Given the description of an element on the screen output the (x, y) to click on. 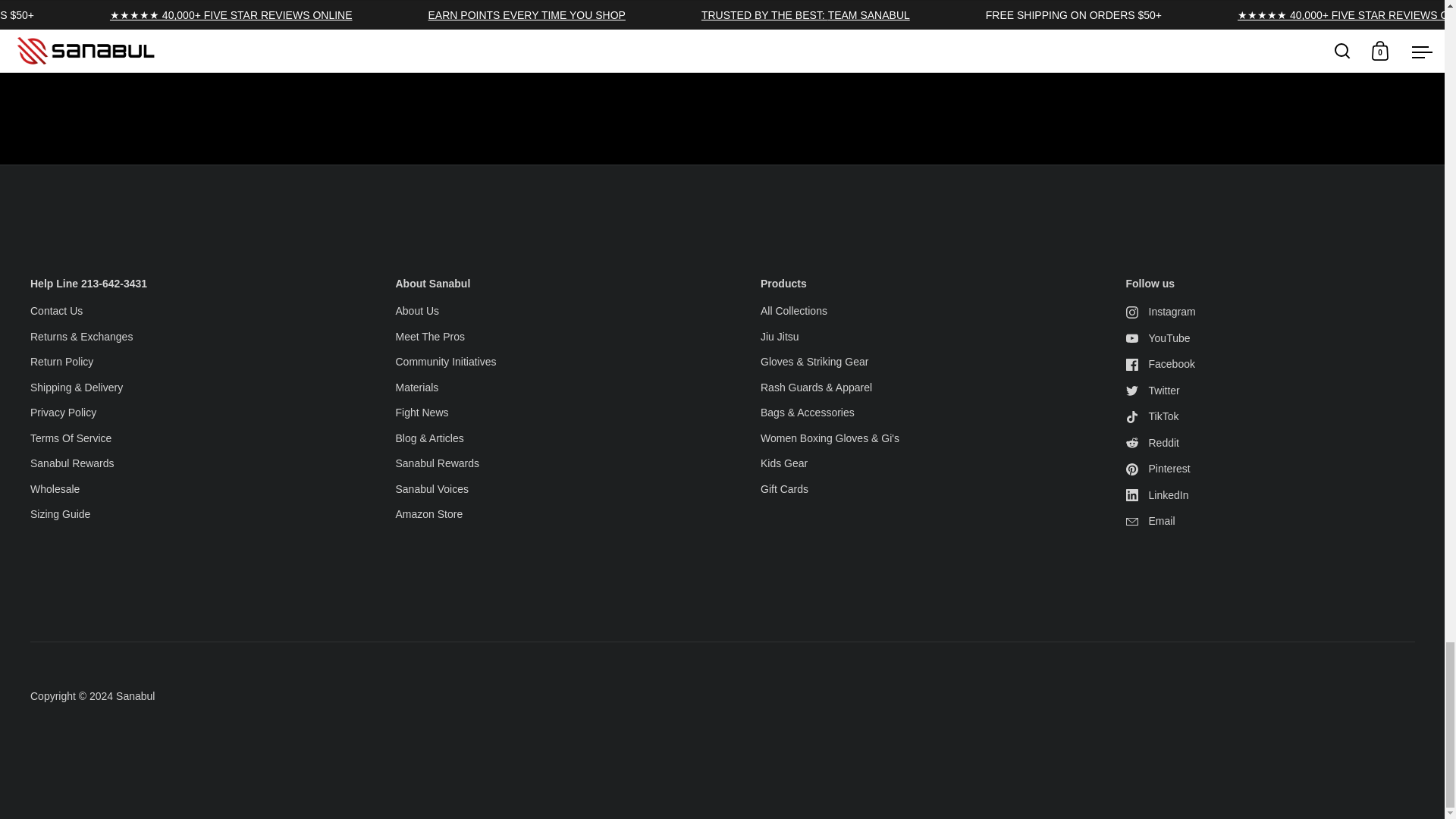
Terms Of Service (71, 439)
Contact Us (56, 311)
Privacy Policy (63, 413)
Return Policy (61, 362)
